Given the description of an element on the screen output the (x, y) to click on. 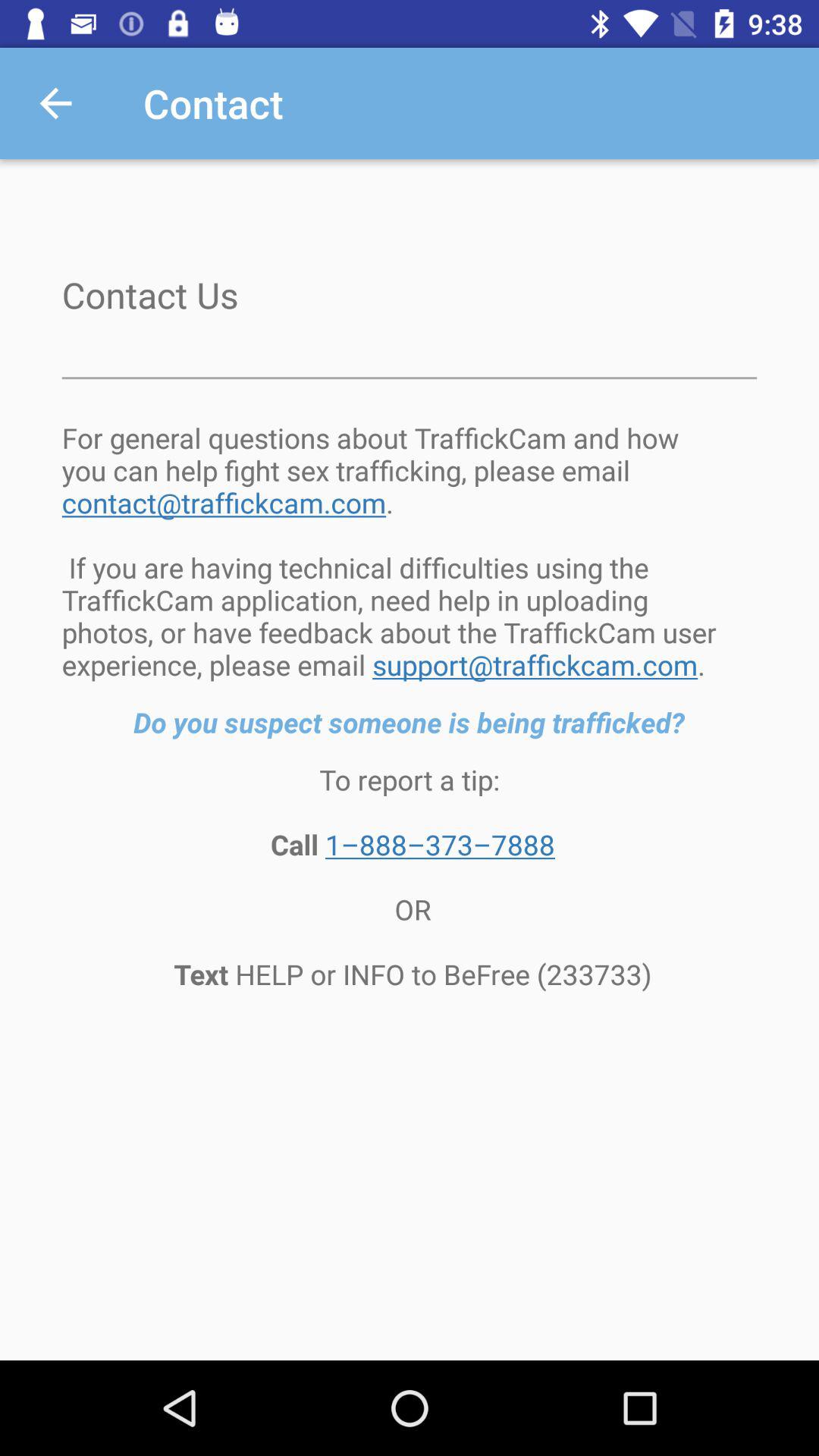
turn off the to report a icon (409, 876)
